Given the description of an element on the screen output the (x, y) to click on. 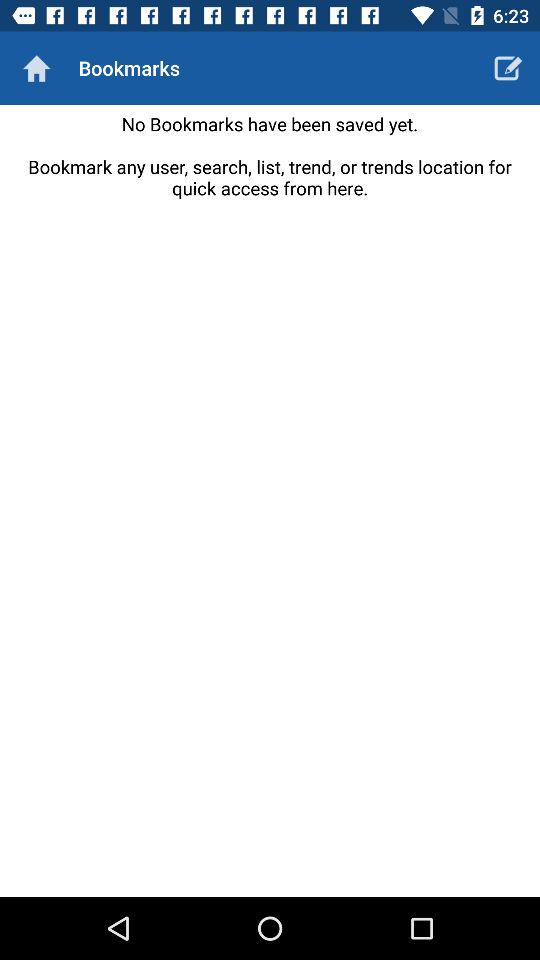
press icon above no bookmarks have icon (508, 67)
